Given the description of an element on the screen output the (x, y) to click on. 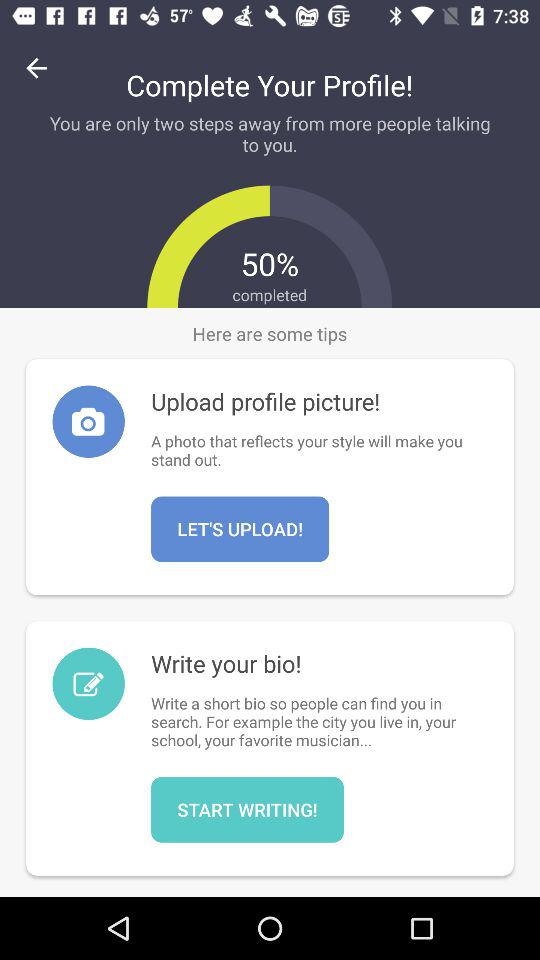
click icon at the top left corner (36, 68)
